Given the description of an element on the screen output the (x, y) to click on. 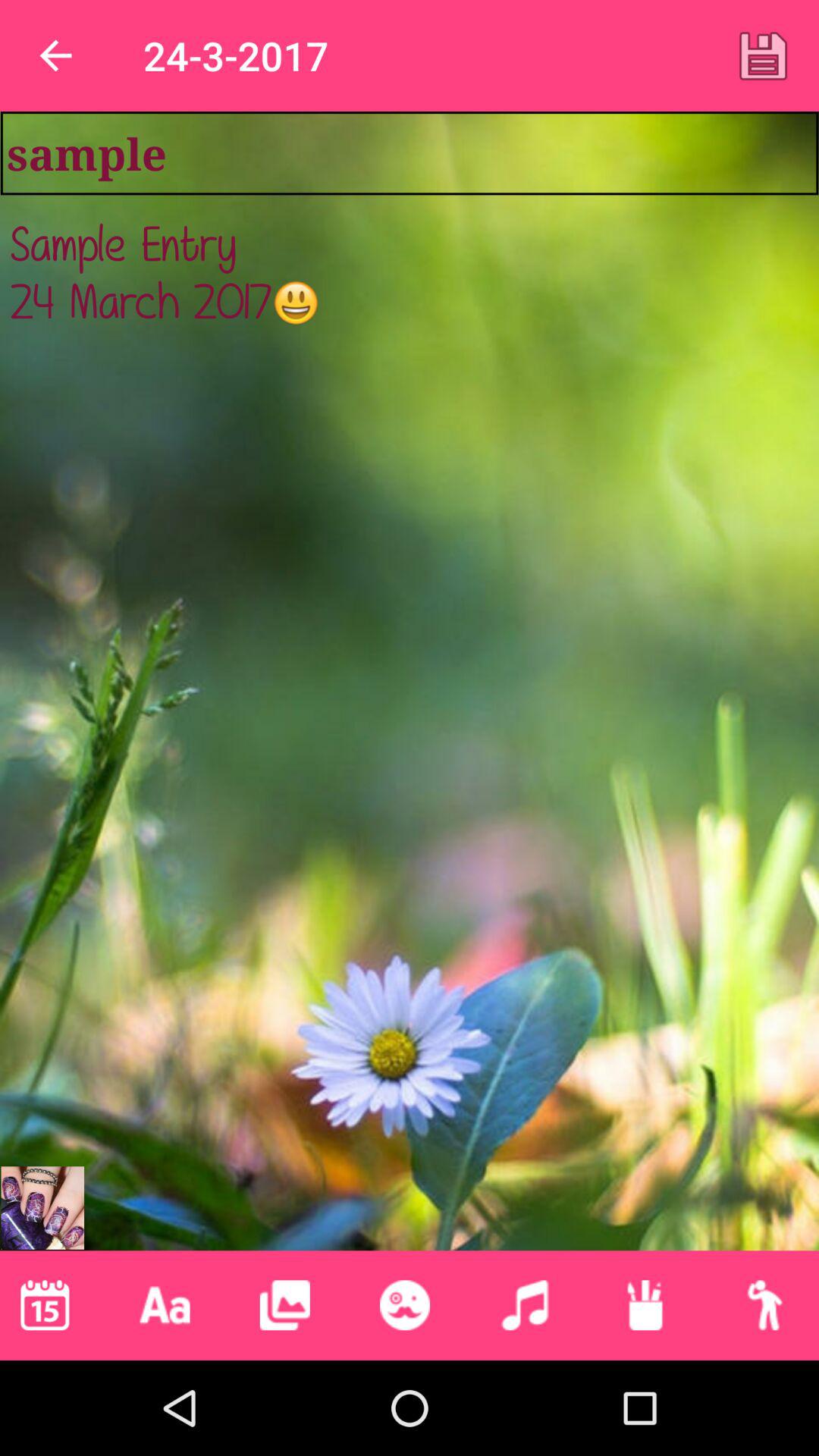
open the icon below the sample entry 24 item (42, 1207)
